Given the description of an element on the screen output the (x, y) to click on. 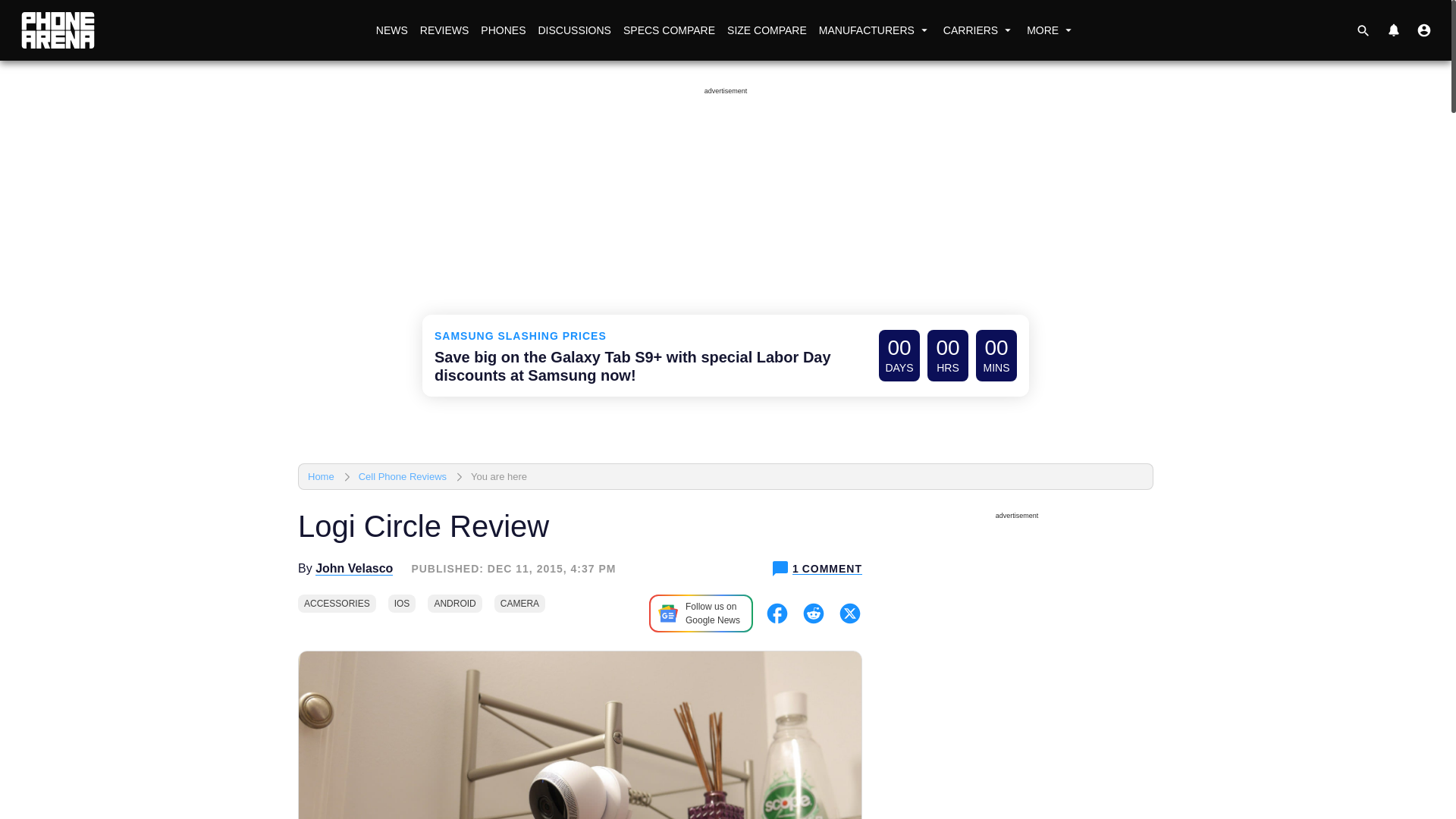
SPECS COMPARE (668, 30)
CARRIERS (978, 30)
MANUFACTURERS (874, 30)
NEWS (391, 30)
SIZE COMPARE (766, 30)
PHONES (502, 30)
REVIEWS (444, 30)
MORE (1050, 30)
DISCUSSIONS (573, 30)
